Given the description of an element on the screen output the (x, y) to click on. 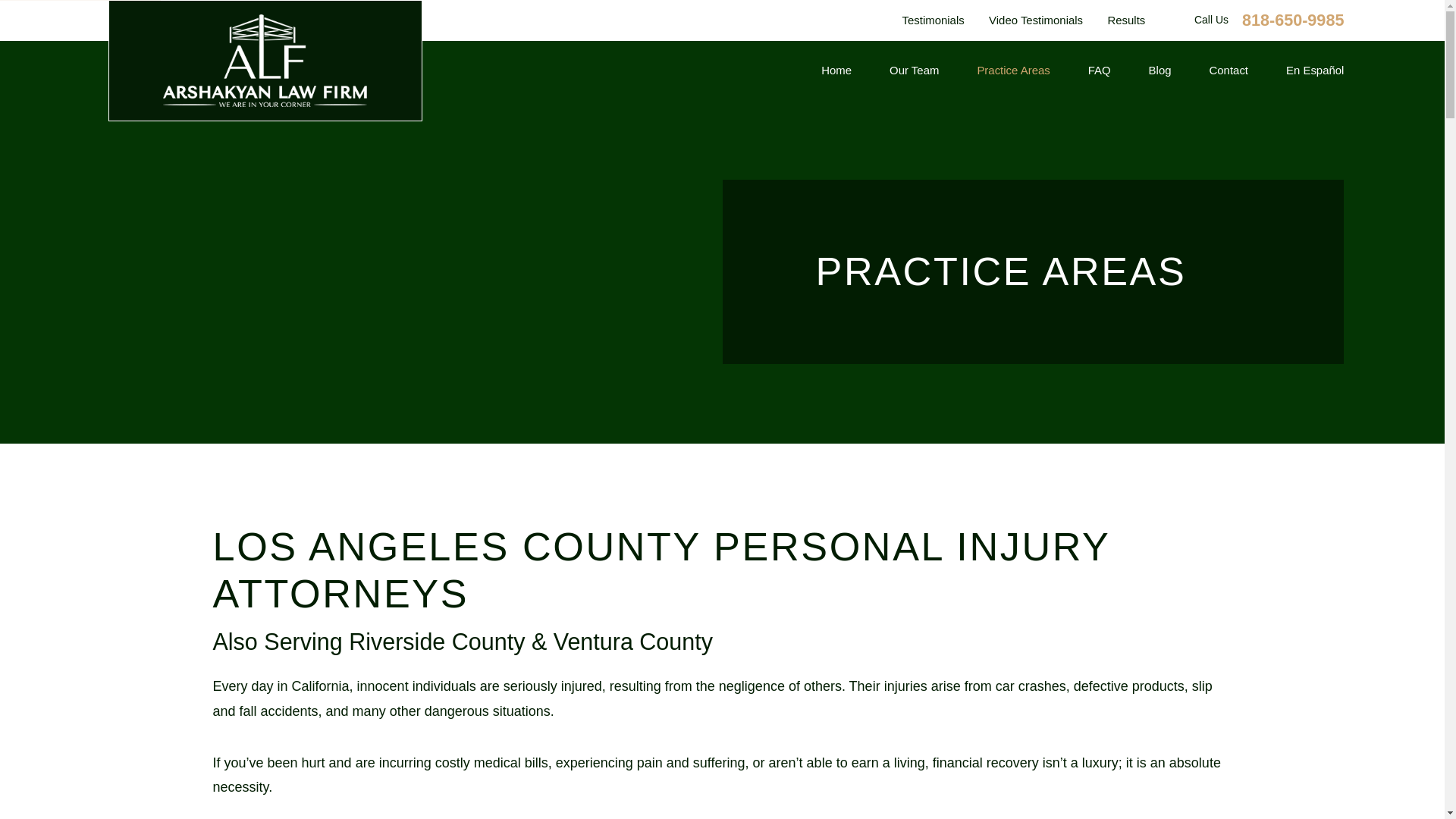
818-650-9985 (1292, 20)
Results (1125, 19)
Practice Areas (1012, 70)
Video Testimonials (1035, 19)
Blog (1160, 70)
Testimonials (932, 19)
FAQ (1098, 70)
Home (264, 60)
Our Team (914, 70)
Home (836, 70)
